Given the description of an element on the screen output the (x, y) to click on. 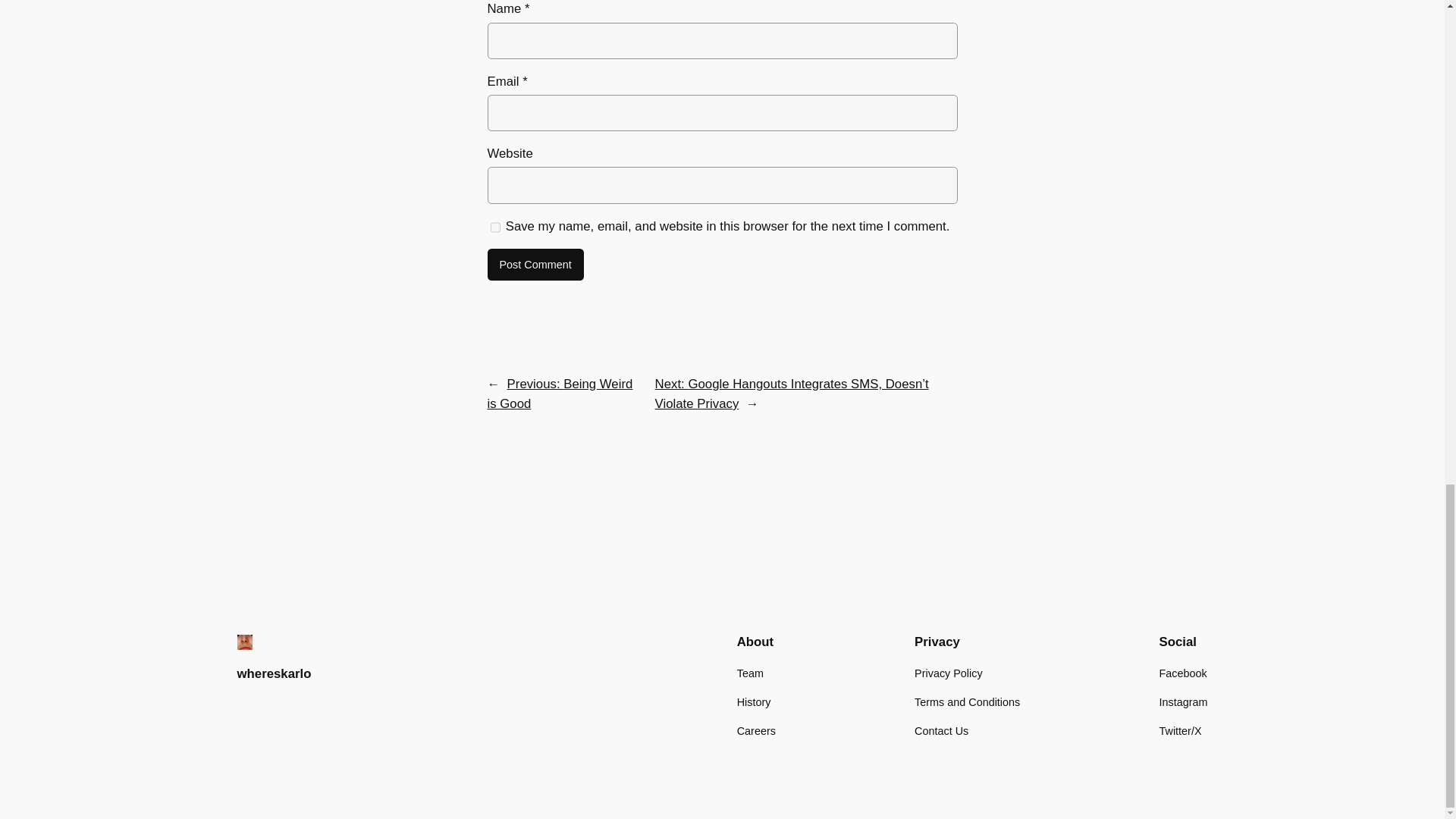
Previous: Being Weird is Good (558, 393)
whereskarlo (273, 673)
Terms and Conditions (967, 701)
Contact Us (941, 730)
Team (749, 673)
Privacy Policy (948, 673)
Careers (756, 730)
Post Comment (534, 264)
History (753, 701)
Post Comment (534, 264)
